Given the description of an element on the screen output the (x, y) to click on. 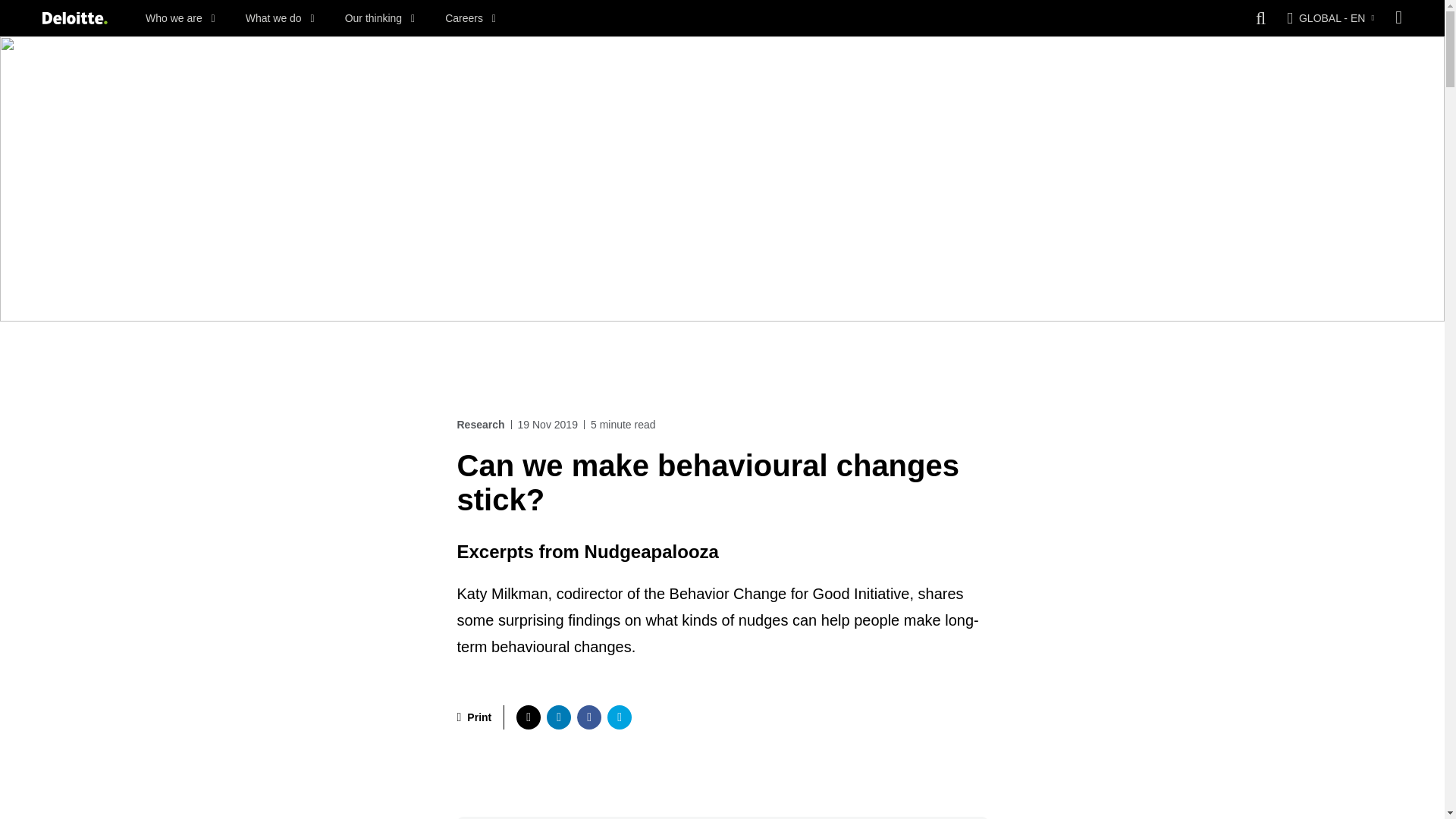
share via twitter (528, 717)
share via email (619, 717)
Our thinking (379, 18)
Careers (470, 18)
Who we are (180, 18)
Print (474, 717)
What we do (280, 18)
Deloitte (74, 18)
share via linkedin (558, 717)
share via facebook (588, 717)
